Given the description of an element on the screen output the (x, y) to click on. 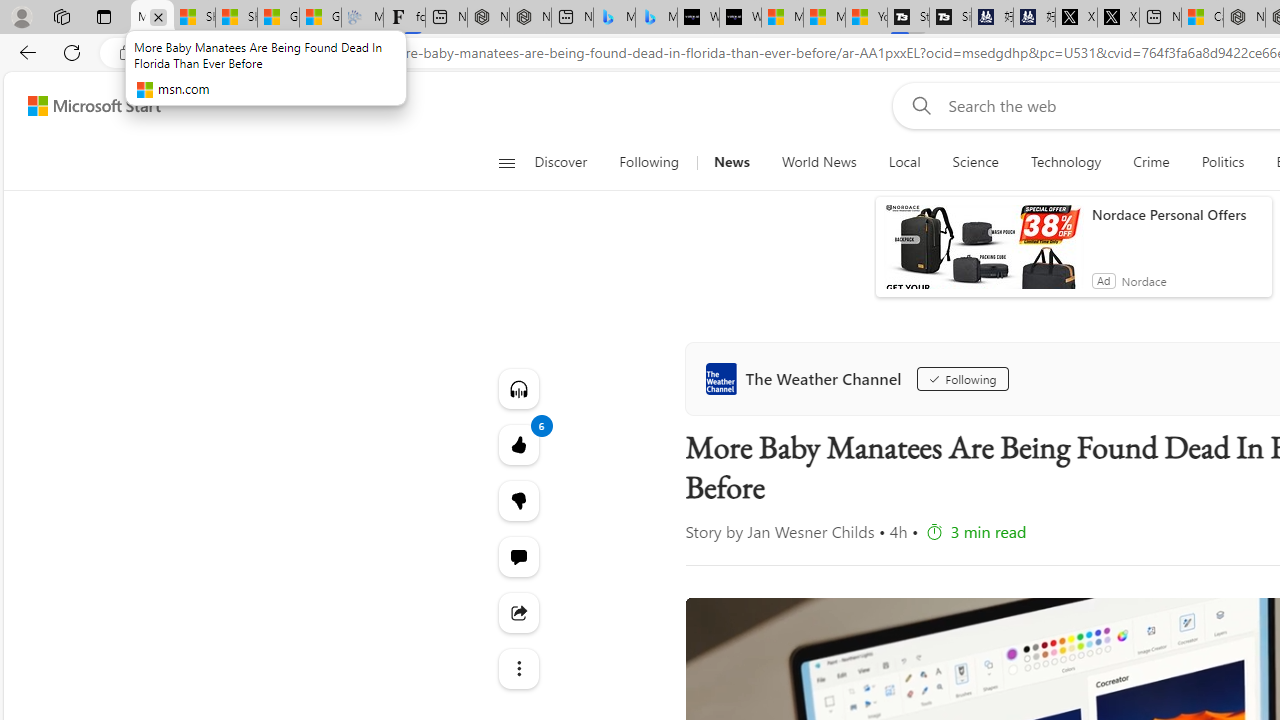
Tab actions menu (104, 16)
Nordace Personal Offers (1177, 214)
Dislike (517, 500)
World News (818, 162)
Back (24, 52)
Nordace - #1 Japanese Best-Seller - Siena Smart Backpack (530, 17)
Crime (1150, 162)
Politics (1222, 162)
See more (517, 668)
Following (648, 162)
Microsoft Start Sports (781, 17)
